Given the description of an element on the screen output the (x, y) to click on. 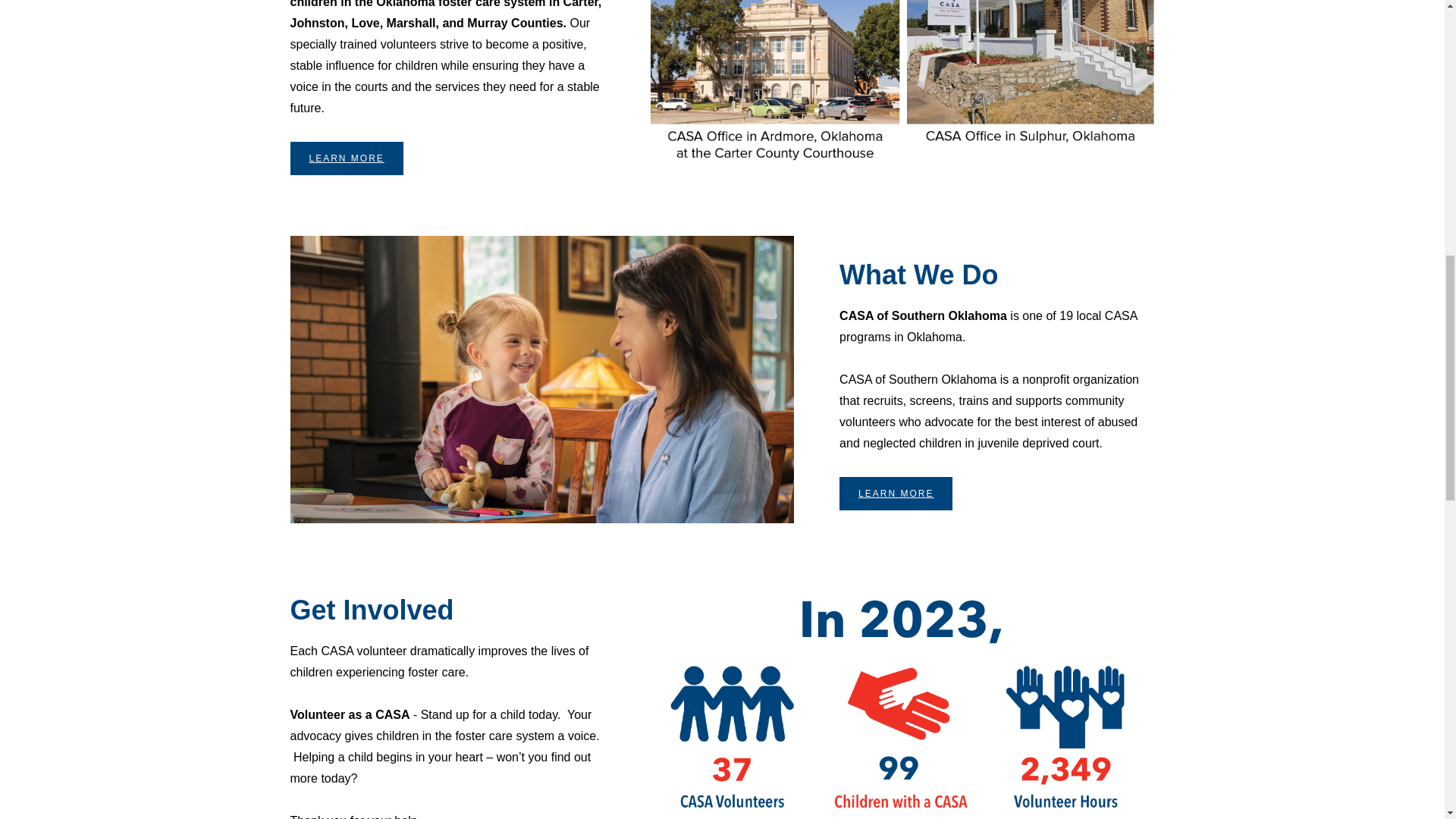
LEARN MORE (896, 493)
LEARN MORE (346, 158)
